Given the description of an element on the screen output the (x, y) to click on. 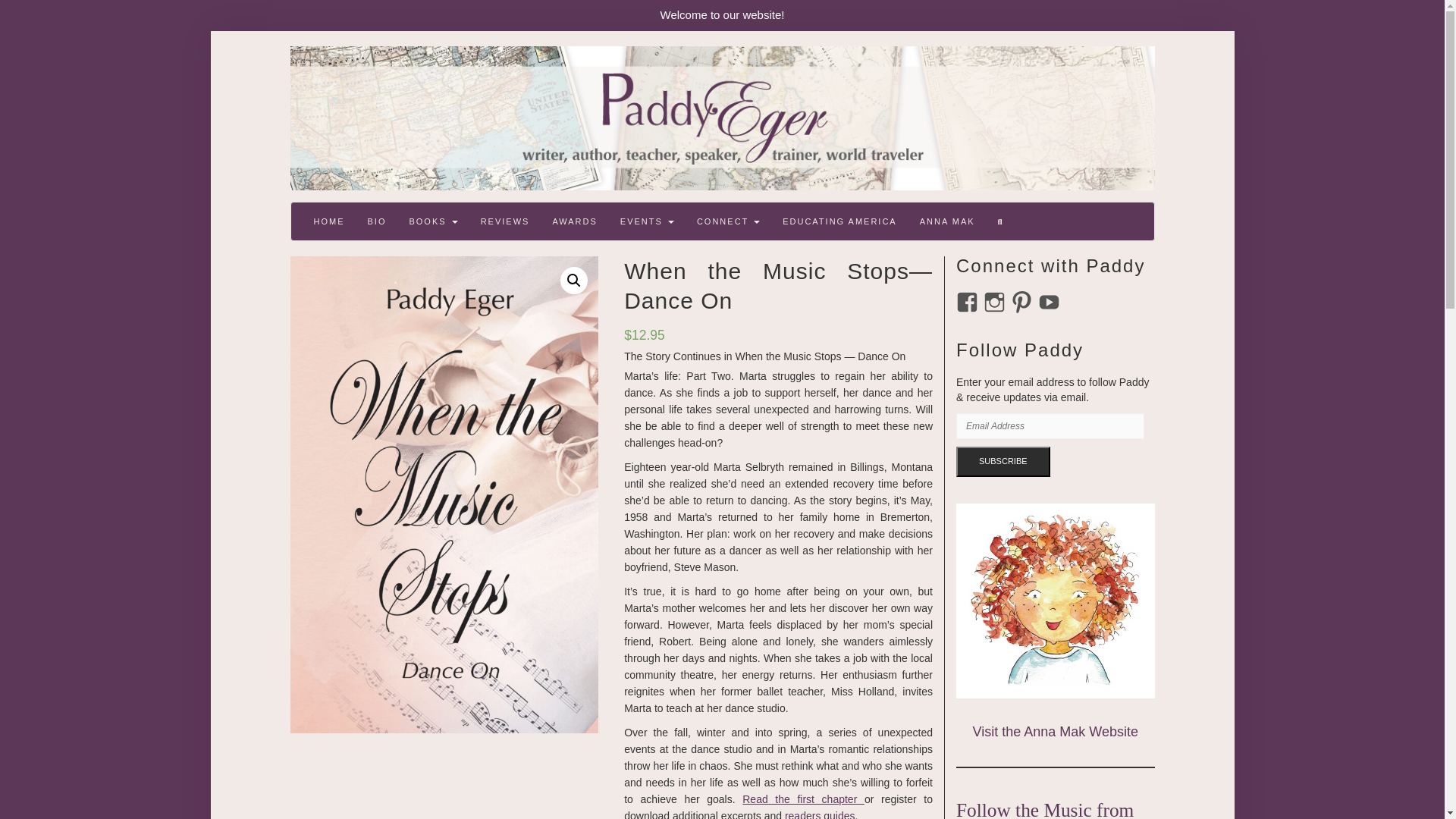
BOOKS (432, 221)
Read the first chapter (803, 799)
AWARDS (574, 221)
readers guides (820, 814)
CONNECT (728, 221)
ANNA MAK (947, 221)
EDUCATING AMERICA (839, 221)
REVIEWS (504, 221)
EVENTS (646, 221)
HOME (328, 221)
BIO (376, 221)
